Given the description of an element on the screen output the (x, y) to click on. 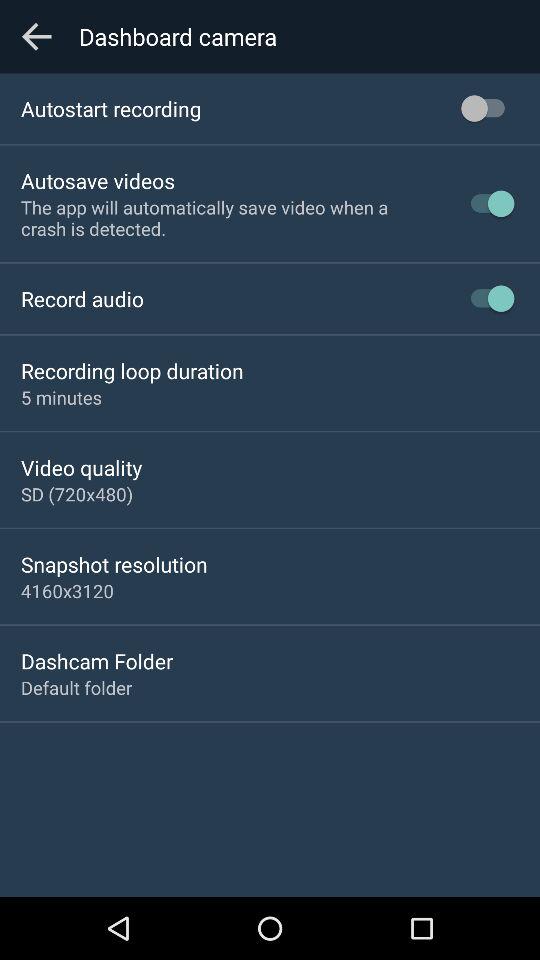
turn on item above the 4160x3120 icon (114, 564)
